Given the description of an element on the screen output the (x, y) to click on. 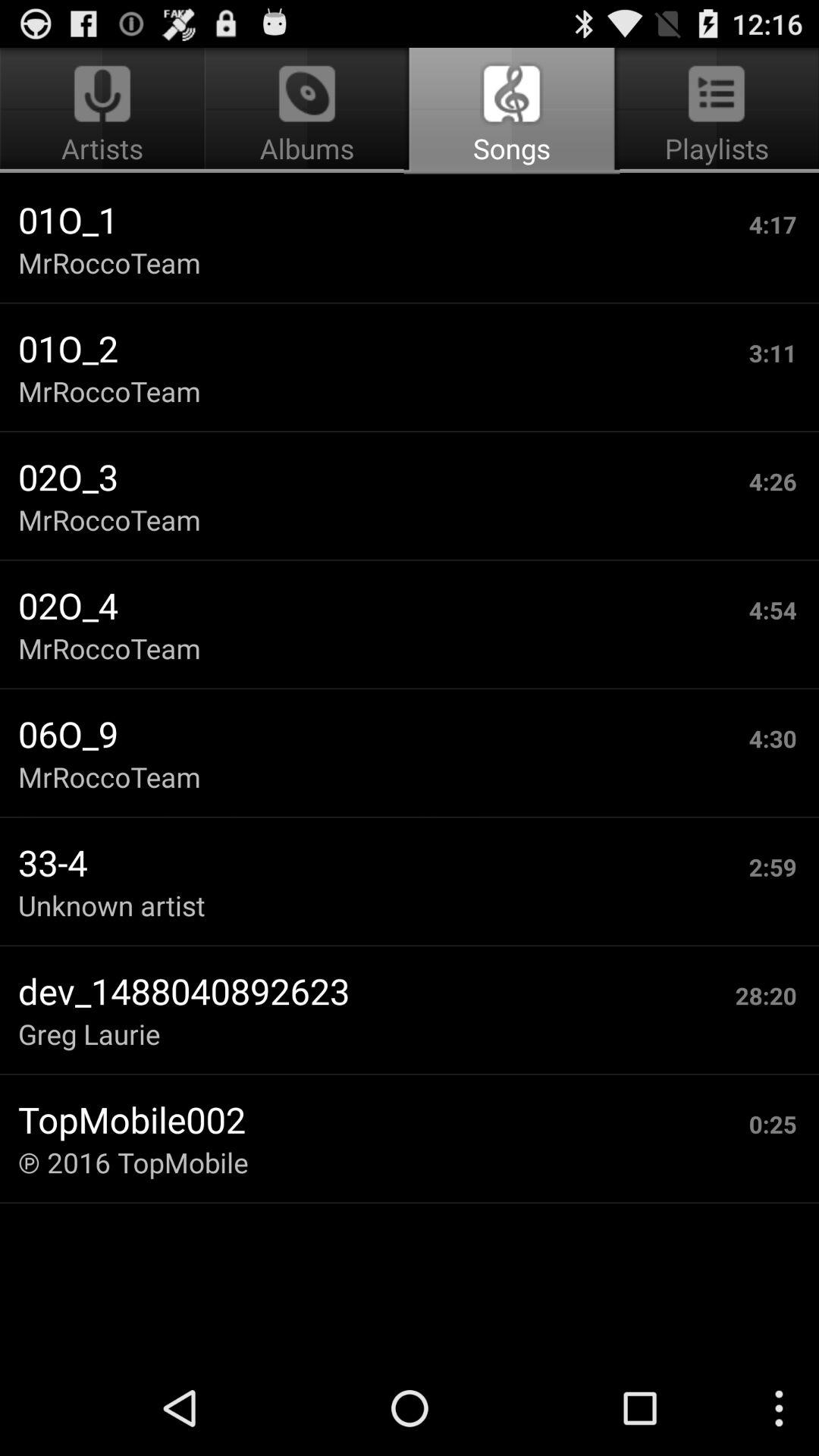
tap icon next to the albums icon (713, 111)
